Given the description of an element on the screen output the (x, y) to click on. 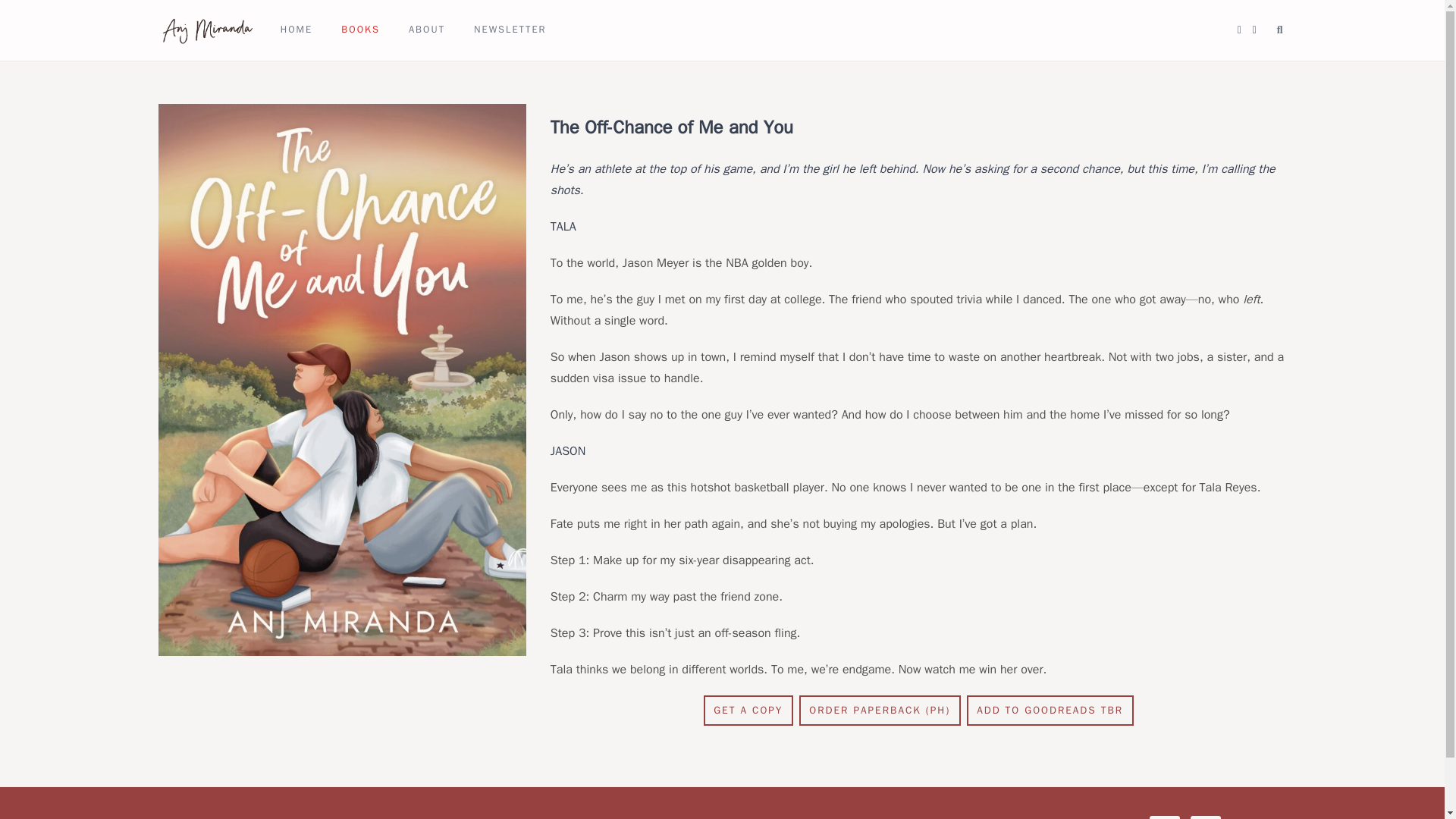
ADD TO GOODREADS TBR (1050, 710)
HOME (305, 30)
BOOKS (368, 30)
NEWSLETTER (518, 30)
GET A COPY (748, 710)
ABOUT (435, 30)
